Given the description of an element on the screen output the (x, y) to click on. 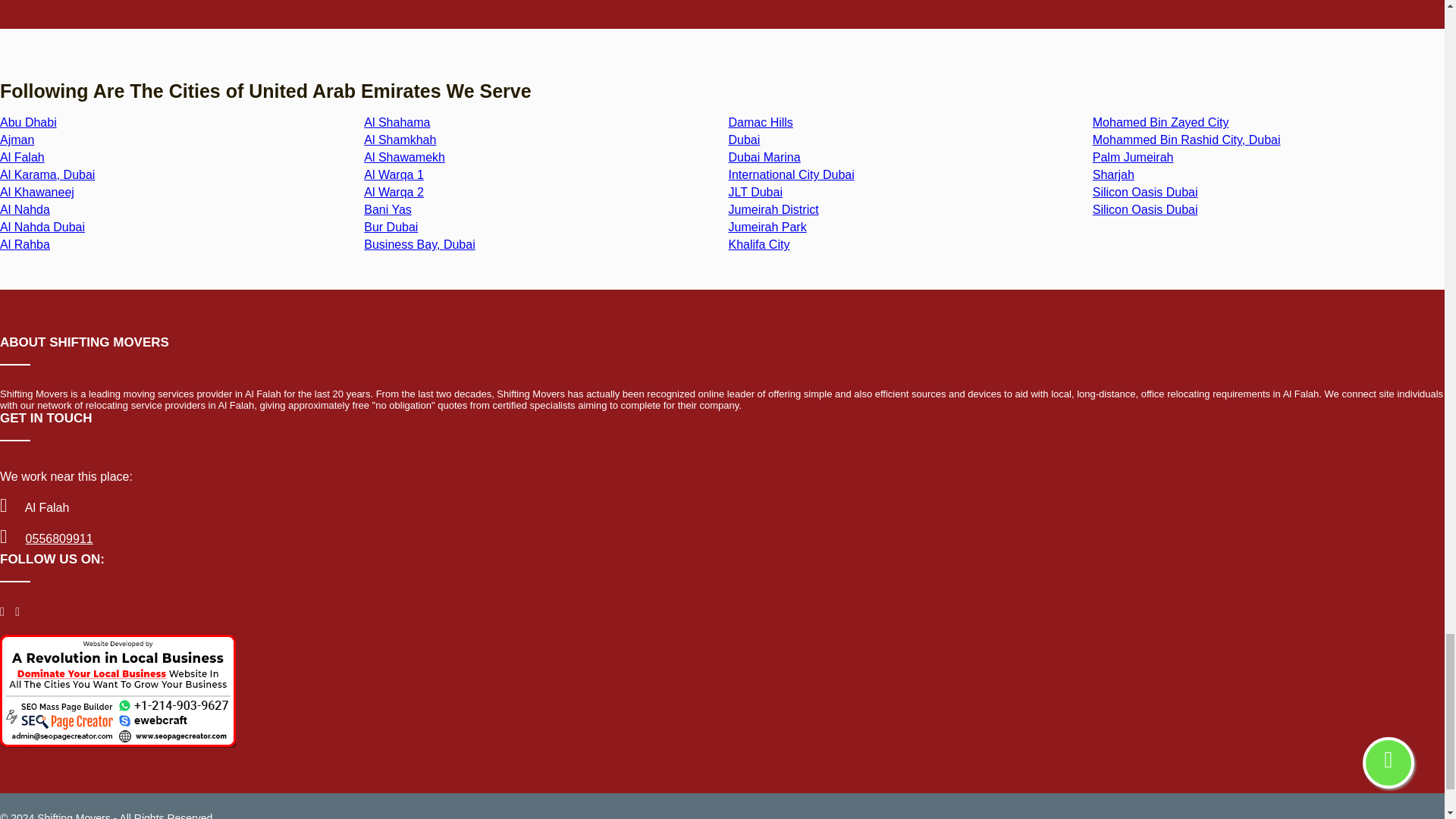
Abu Dhabi (28, 122)
Al Karama, Dubai (47, 174)
Al Falah (22, 156)
Ajman (16, 139)
Al Nahda (24, 209)
Al Khawaneej (37, 192)
